Given the description of an element on the screen output the (x, y) to click on. 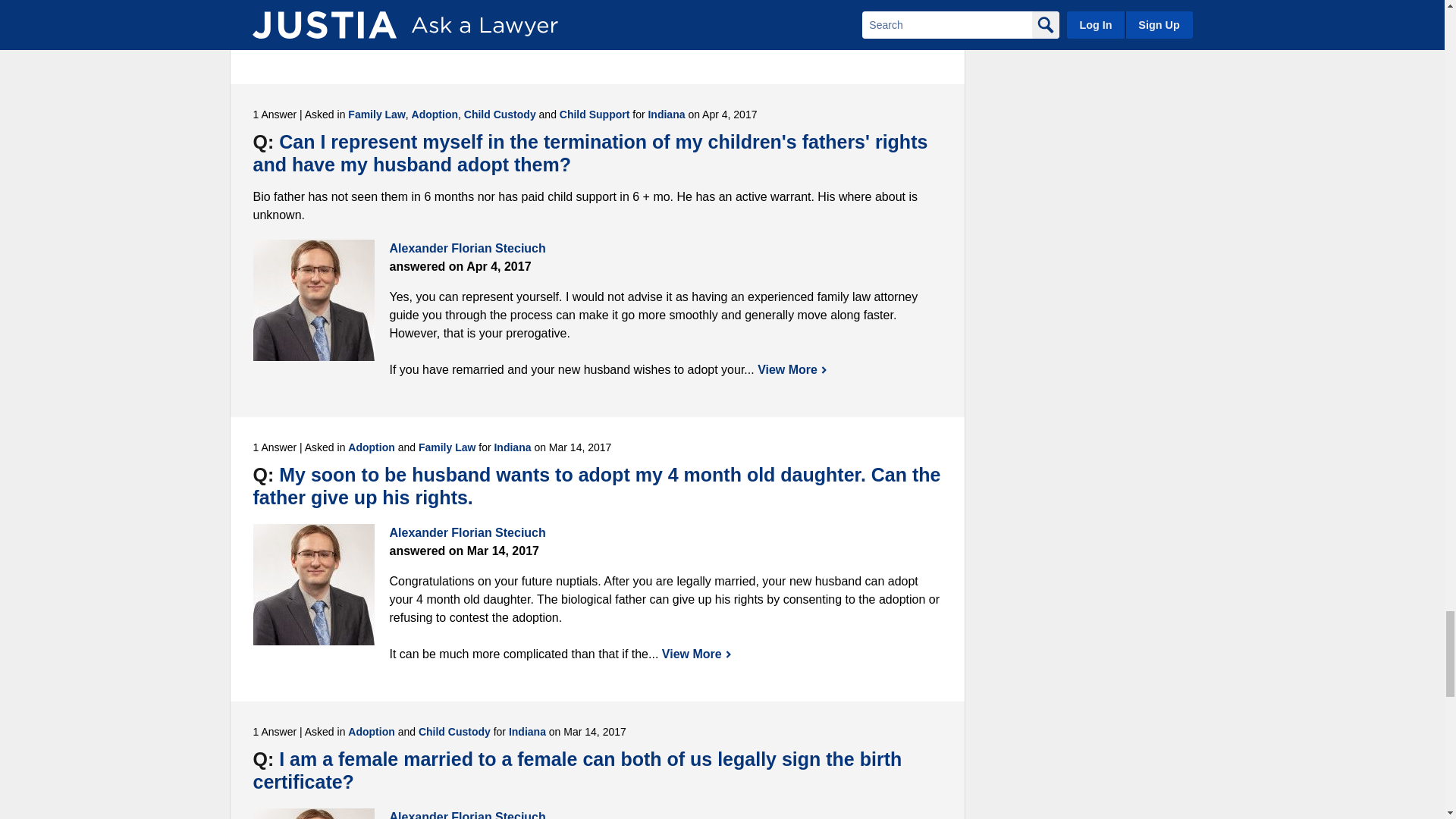
Paul Stanko (313, 22)
Alexander Florian Steciuch (313, 300)
